Given the description of an element on the screen output the (x, y) to click on. 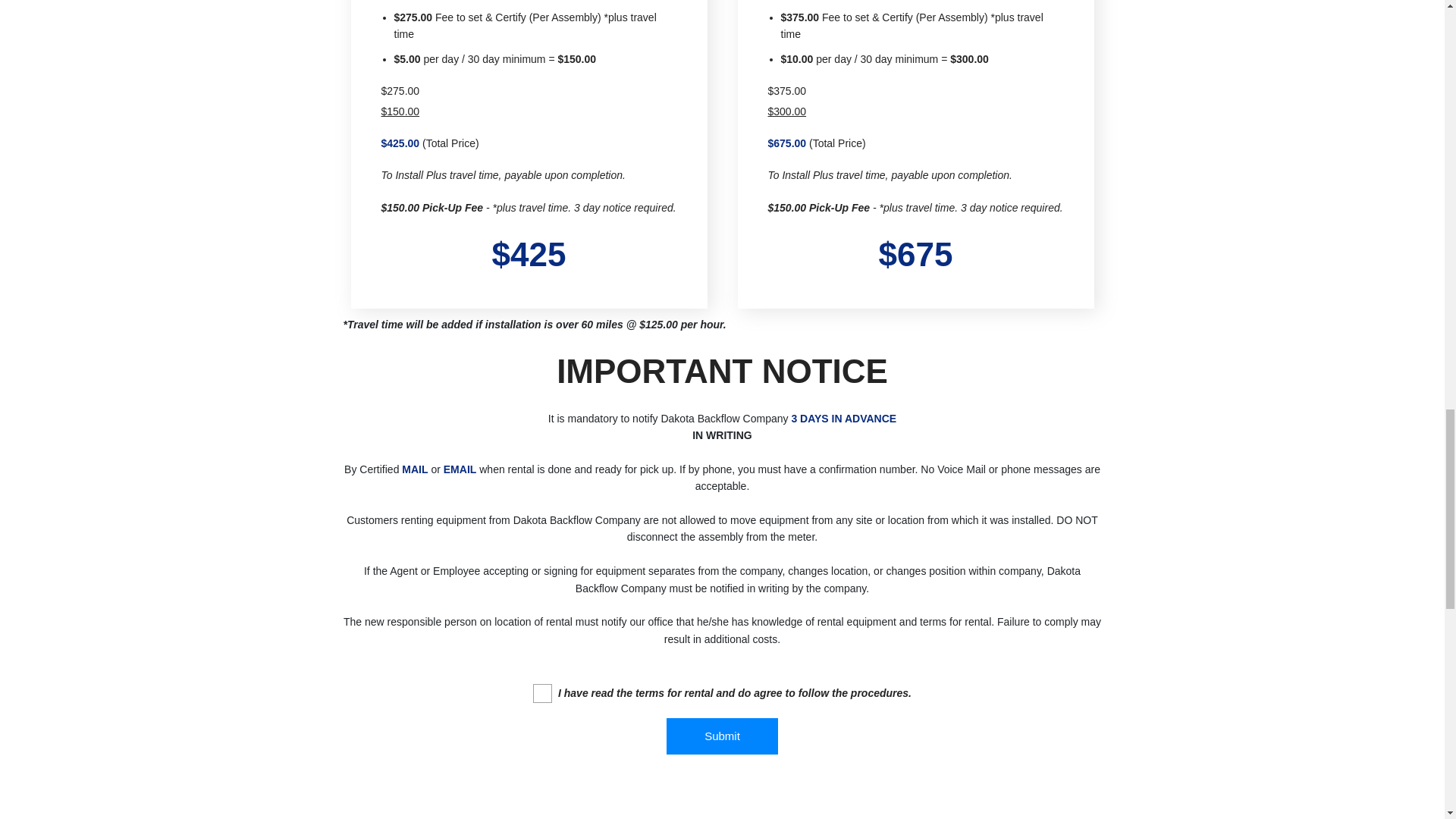
Submit (721, 736)
